Given the description of an element on the screen output the (x, y) to click on. 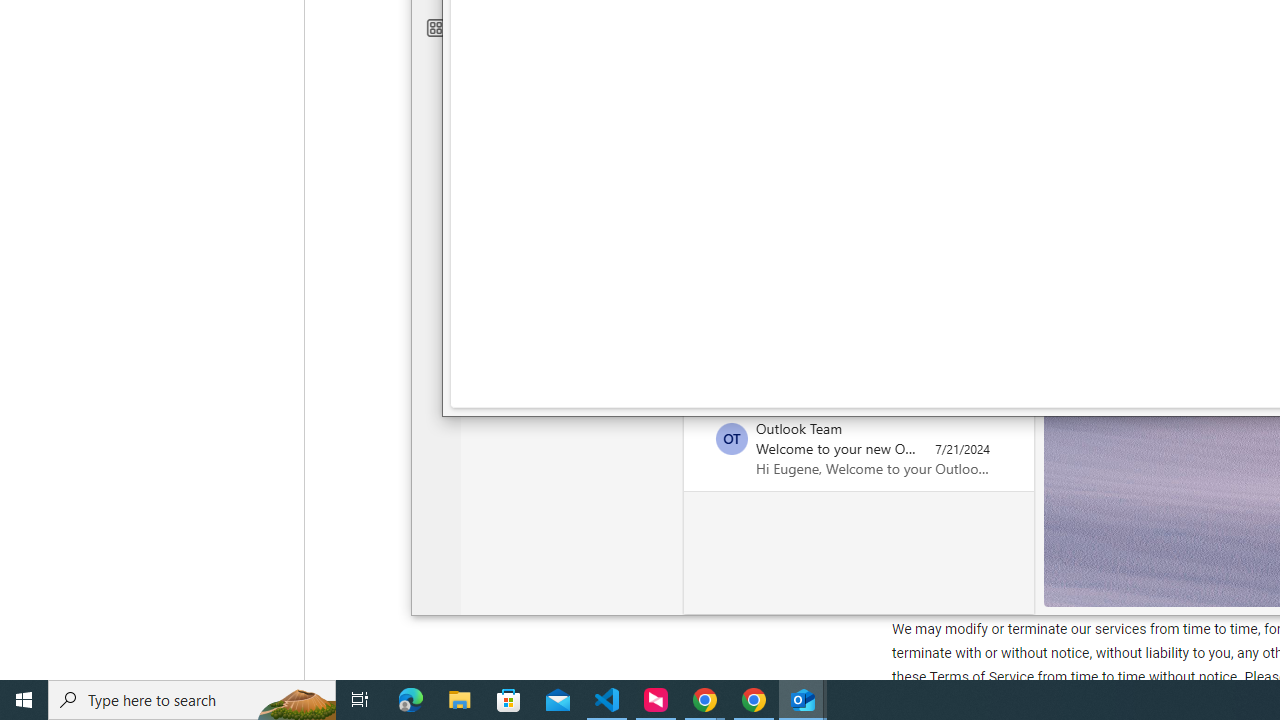
Select a conversation (731, 439)
Google Chrome - 2 running windows (704, 699)
Task View (359, 699)
Visual Studio Code - 1 running window (607, 699)
Google Chrome - 1 running window (754, 699)
Microsoft Edge (411, 699)
File Explorer (460, 699)
Start (24, 699)
Outlook (new) - 2 running windows (803, 699)
Outlook Team (731, 439)
Microsoft Store (509, 699)
Search highlights icon opens search home window (295, 699)
Type here to search (191, 699)
